Given the description of an element on the screen output the (x, y) to click on. 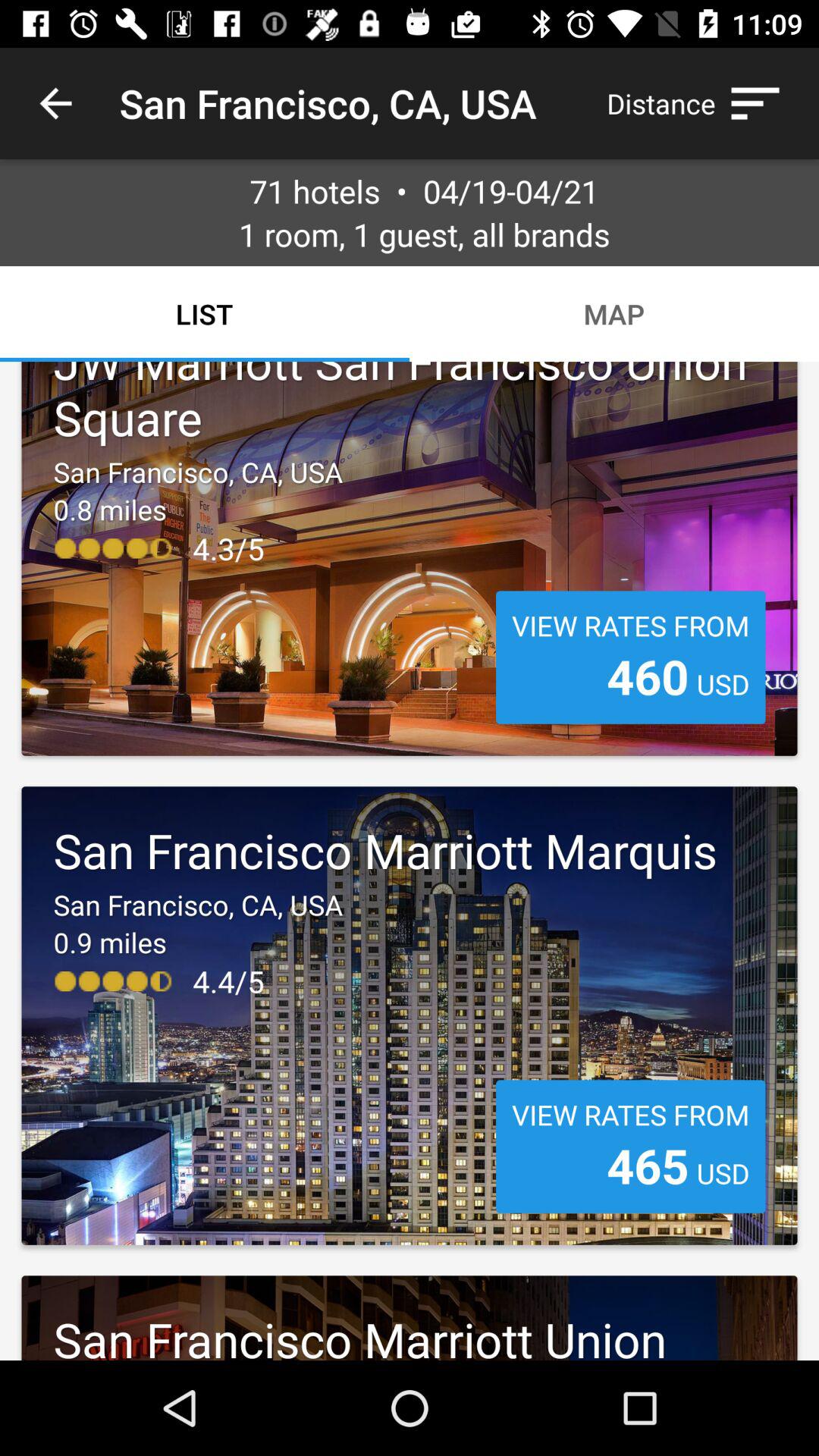
choose the icon above 71 hotels 04 icon (700, 103)
